Given the description of an element on the screen output the (x, y) to click on. 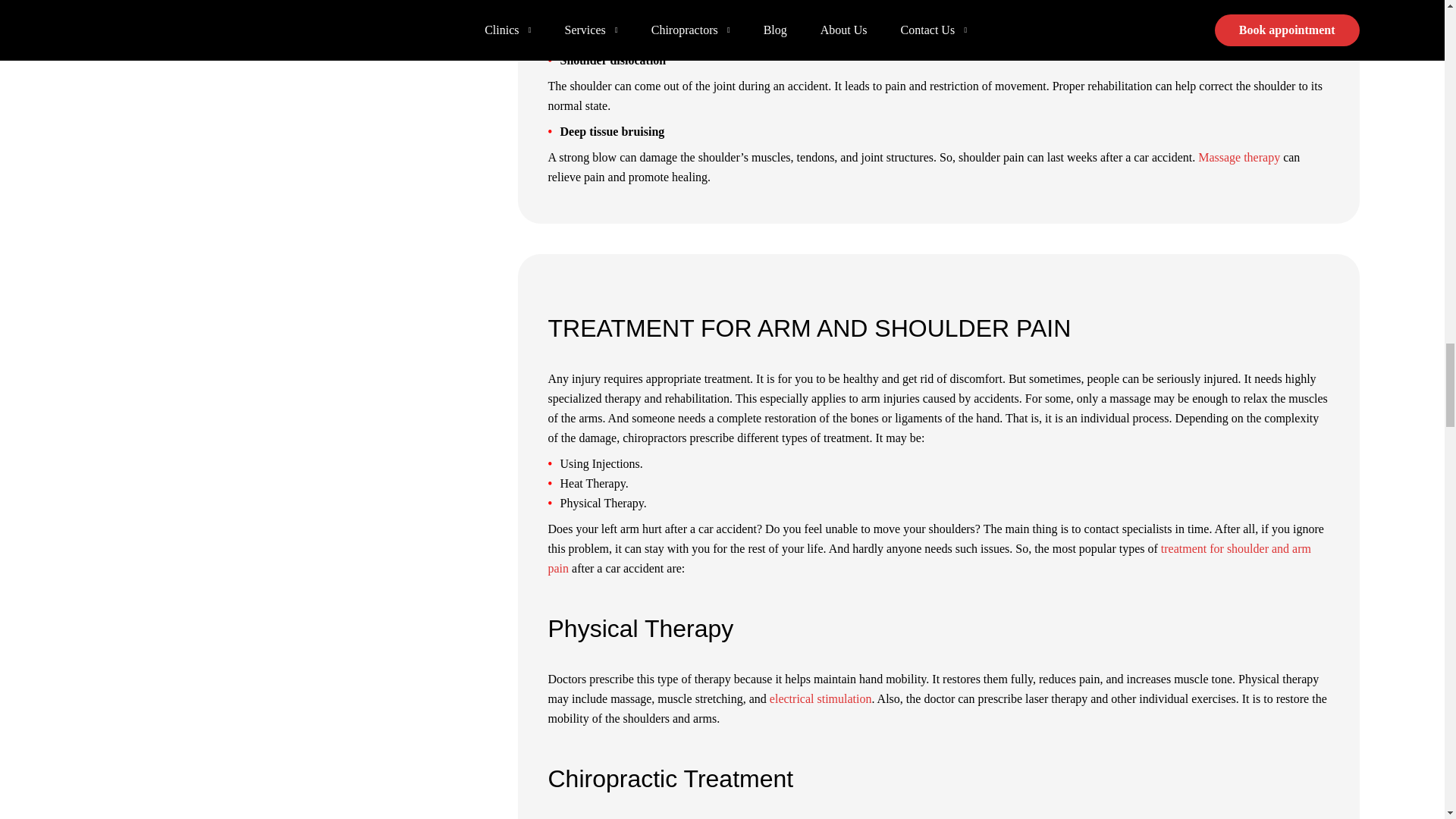
How the Massage Therapy can Help For Car Accident? (1238, 156)
